Given the description of an element on the screen output the (x, y) to click on. 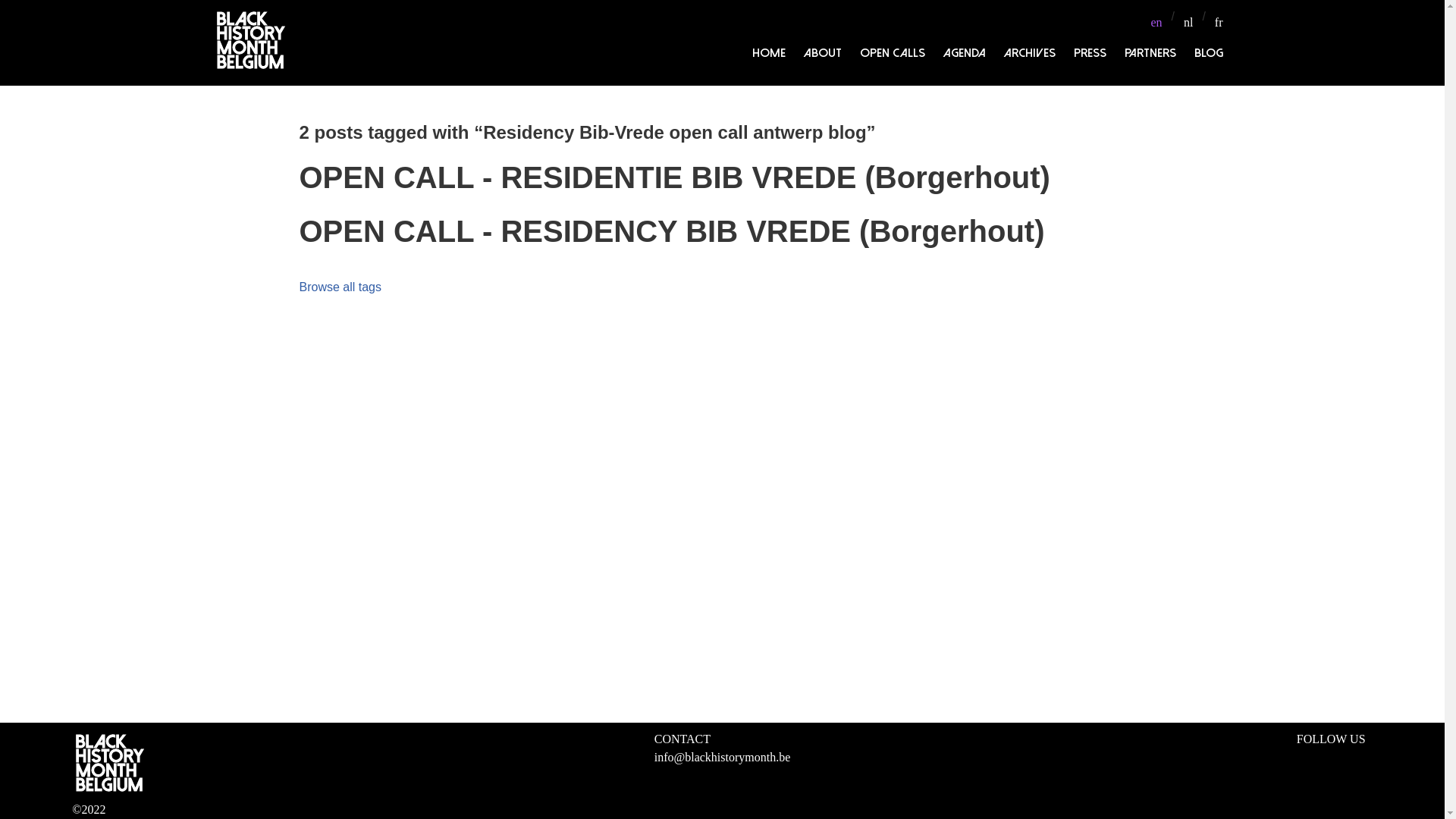
linkedin Element type: hover (1349, 755)
info@blackhistorymonth.be Element type: text (722, 757)
facebook Element type: hover (1303, 755)
twitter Element type: hover (1334, 755)
nl Element type: text (1187, 22)
Home Element type: text (768, 52)
Archives Element type: text (1029, 52)
Partners Element type: text (1149, 52)
OPEN CALL - RESIDENTIE BIB VREDE (Borgerhout) Element type: text (673, 177)
Blog Element type: text (1207, 52)
fr Element type: text (1218, 22)
Agenda Element type: text (964, 52)
Open Calls Element type: text (892, 52)
About Element type: text (822, 52)
en Element type: text (1155, 22)
OPEN CALL - RESIDENCY BIB VREDE (Borgerhout) Element type: text (671, 231)
Press Element type: text (1089, 52)
youtube Element type: hover (1364, 755)
instagram Element type: hover (1319, 755)
Browse all tags Element type: text (339, 286)
